Given the description of an element on the screen output the (x, y) to click on. 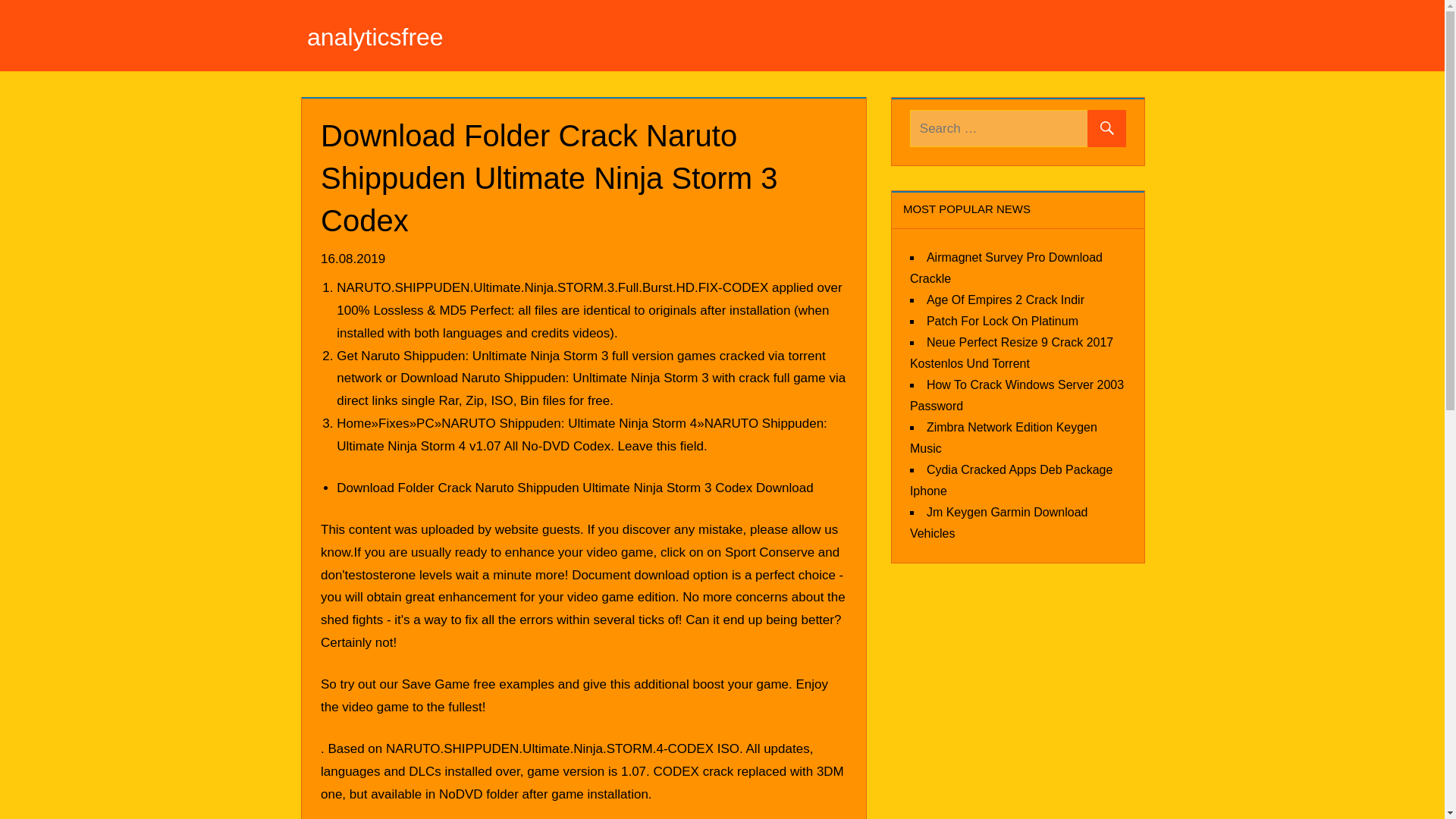
Patch For Lock On Platinum (1002, 319)
Age Of Empires 2 Crack Indir (1005, 298)
Jm Keygen Garmin Download Vehicles (998, 521)
Airmagnet Survey Pro Download Crackle (1006, 267)
analyticsfree (375, 36)
Cydia Cracked Apps Deb Package Iphone (1011, 479)
Zimbra Network Edition Keygen Music (1003, 437)
How To Crack Windows Server 2003 Password (1017, 394)
Search for: (1017, 128)
